Given the description of an element on the screen output the (x, y) to click on. 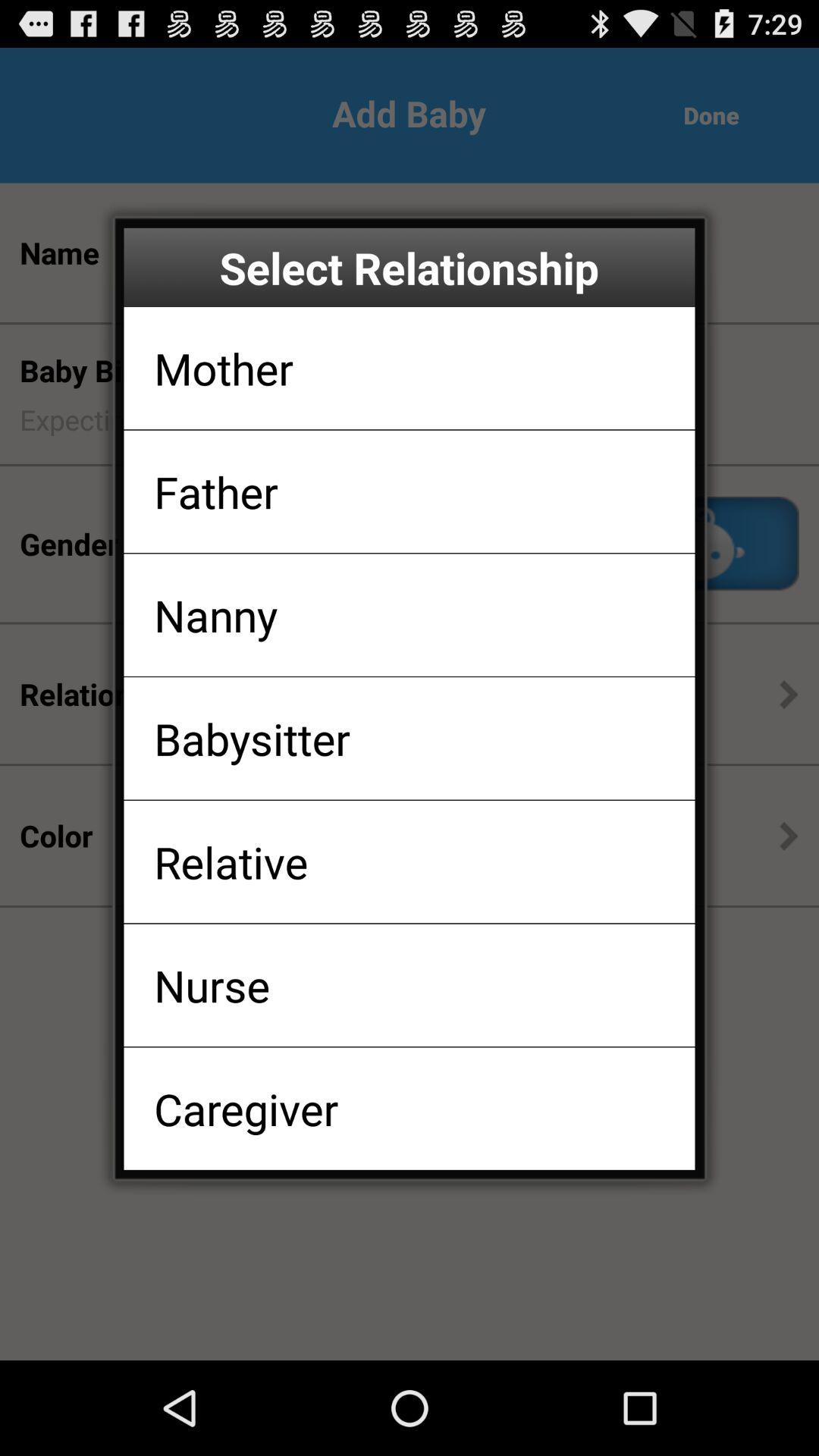
press icon below the babysitter (231, 861)
